Given the description of an element on the screen output the (x, y) to click on. 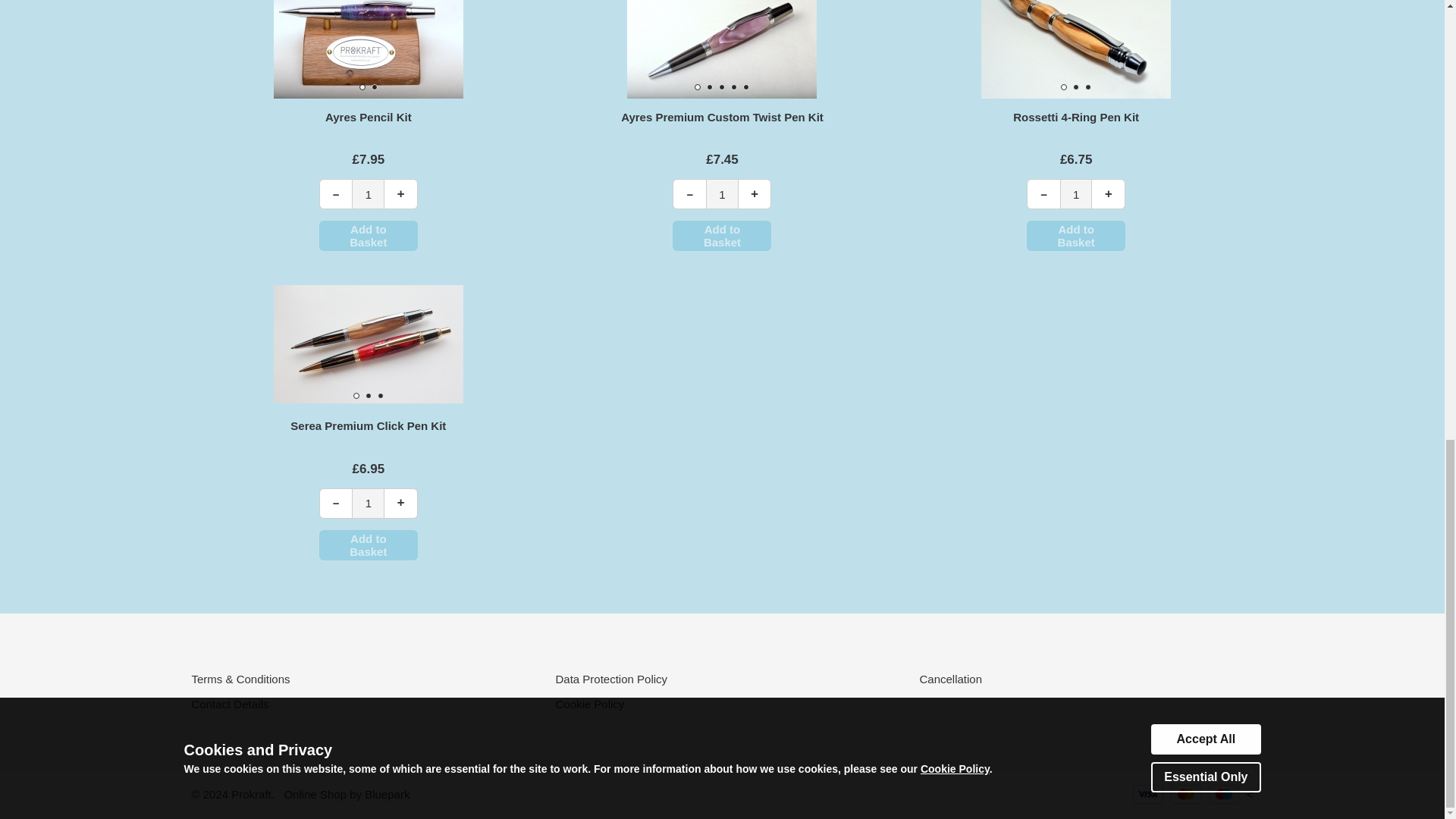
1 (368, 193)
1 (722, 193)
1 (368, 502)
1 (1076, 193)
